Given the description of an element on the screen output the (x, y) to click on. 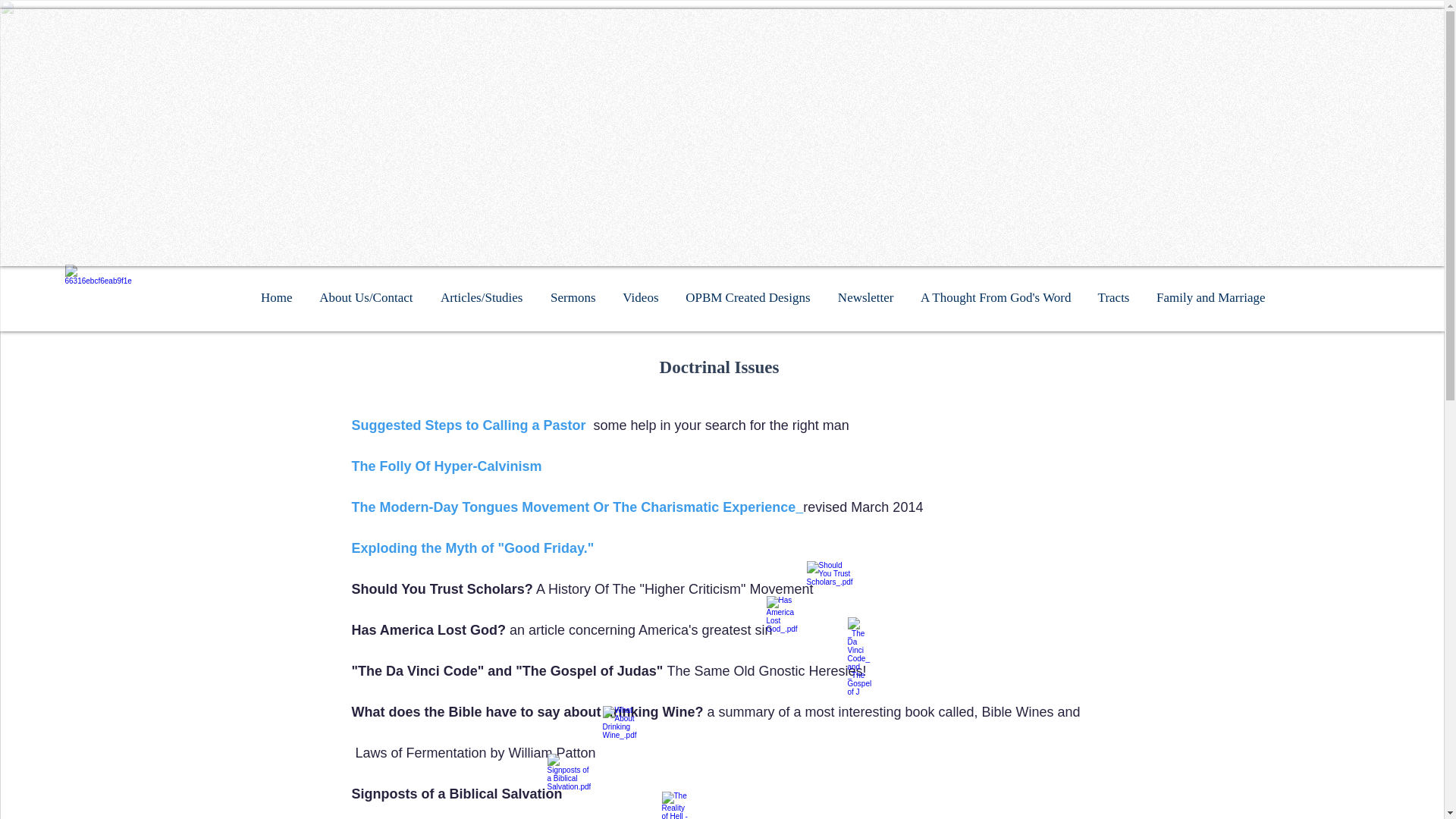
some help in your search for the right man (721, 425)
Has America Lost God? (428, 630)
A Thought From God's Word (994, 298)
Should You Trust Scholars? (442, 589)
Signposts of a Biblical Salvation (457, 793)
Home (273, 298)
OPBM Created Designs (745, 298)
Family and Marriage (1208, 298)
The Folly Of Hyper-Calvinism (446, 466)
